Given the description of an element on the screen output the (x, y) to click on. 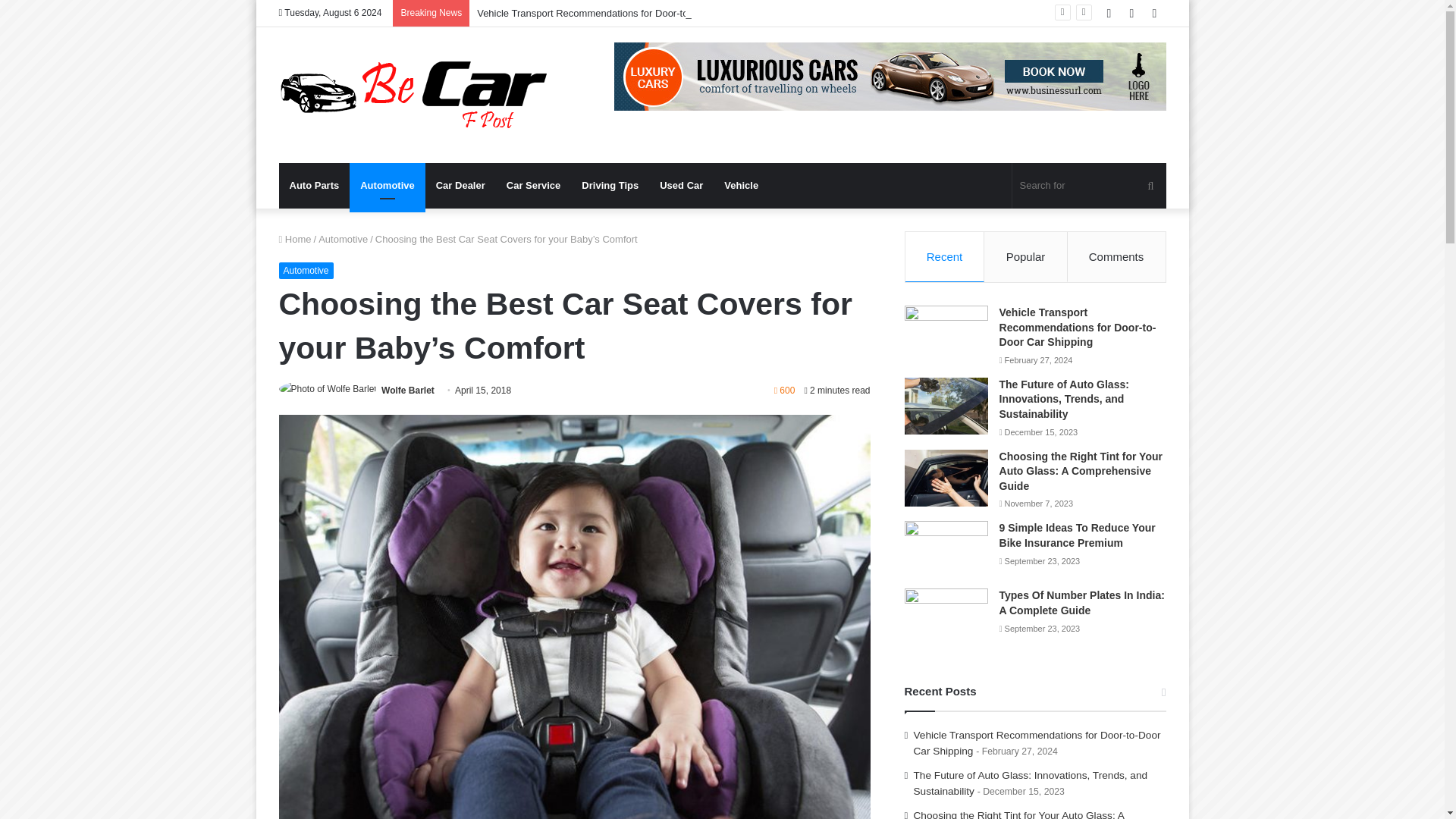
Wolfe Barlet (407, 389)
Search for (1088, 185)
Automotive (343, 238)
Vehicle (740, 185)
Auto Parts (314, 185)
Driving Tips (609, 185)
Be Car F Post - Car Dealer Info - Get the Best Advice (413, 94)
Home (295, 238)
Automotive (306, 270)
Car Dealer (460, 185)
Car Service (534, 185)
Wolfe Barlet (407, 389)
Automotive (387, 185)
Used Car (681, 185)
